Given the description of an element on the screen output the (x, y) to click on. 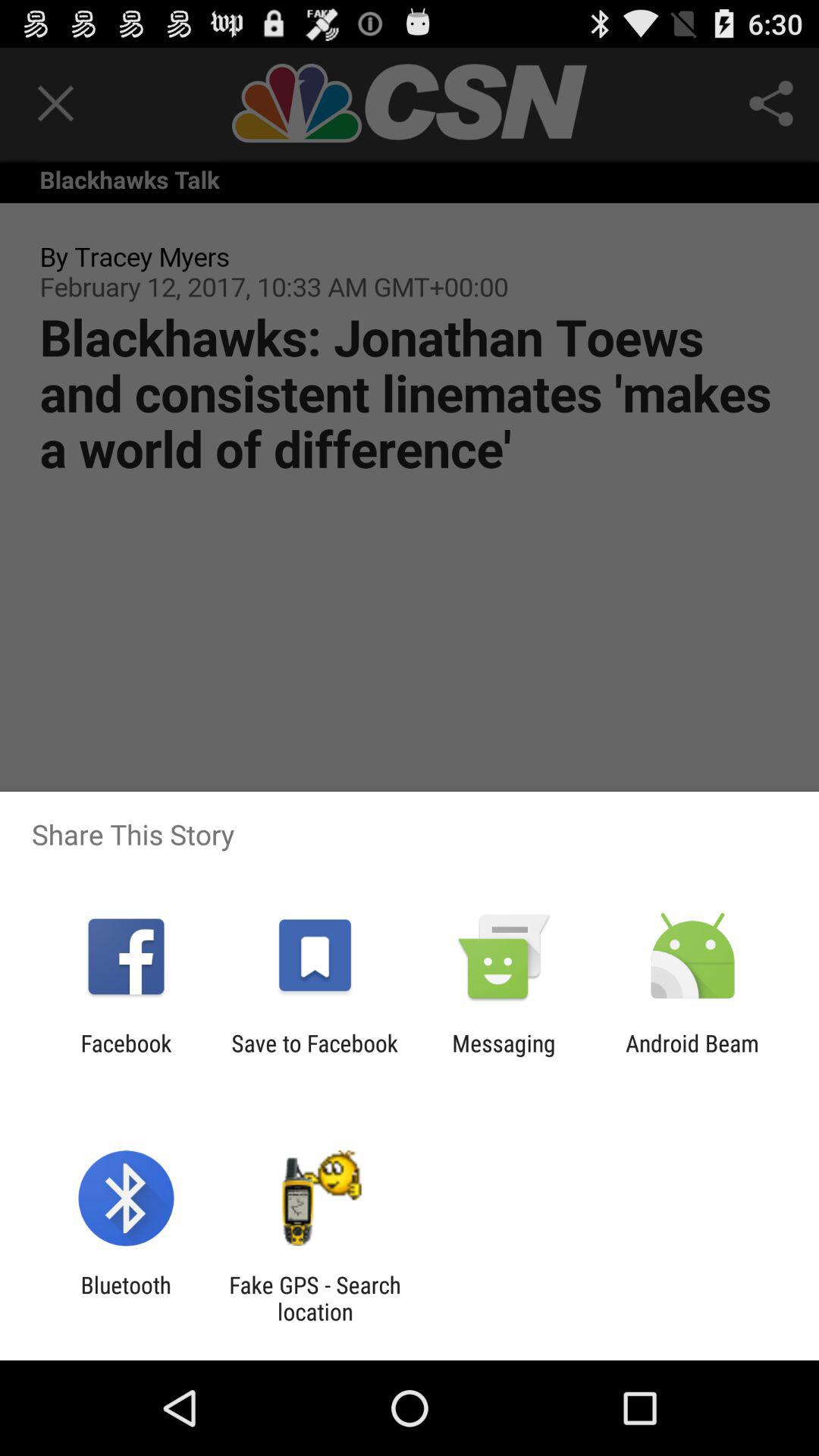
click item to the right of bluetooth app (314, 1298)
